Given the description of an element on the screen output the (x, y) to click on. 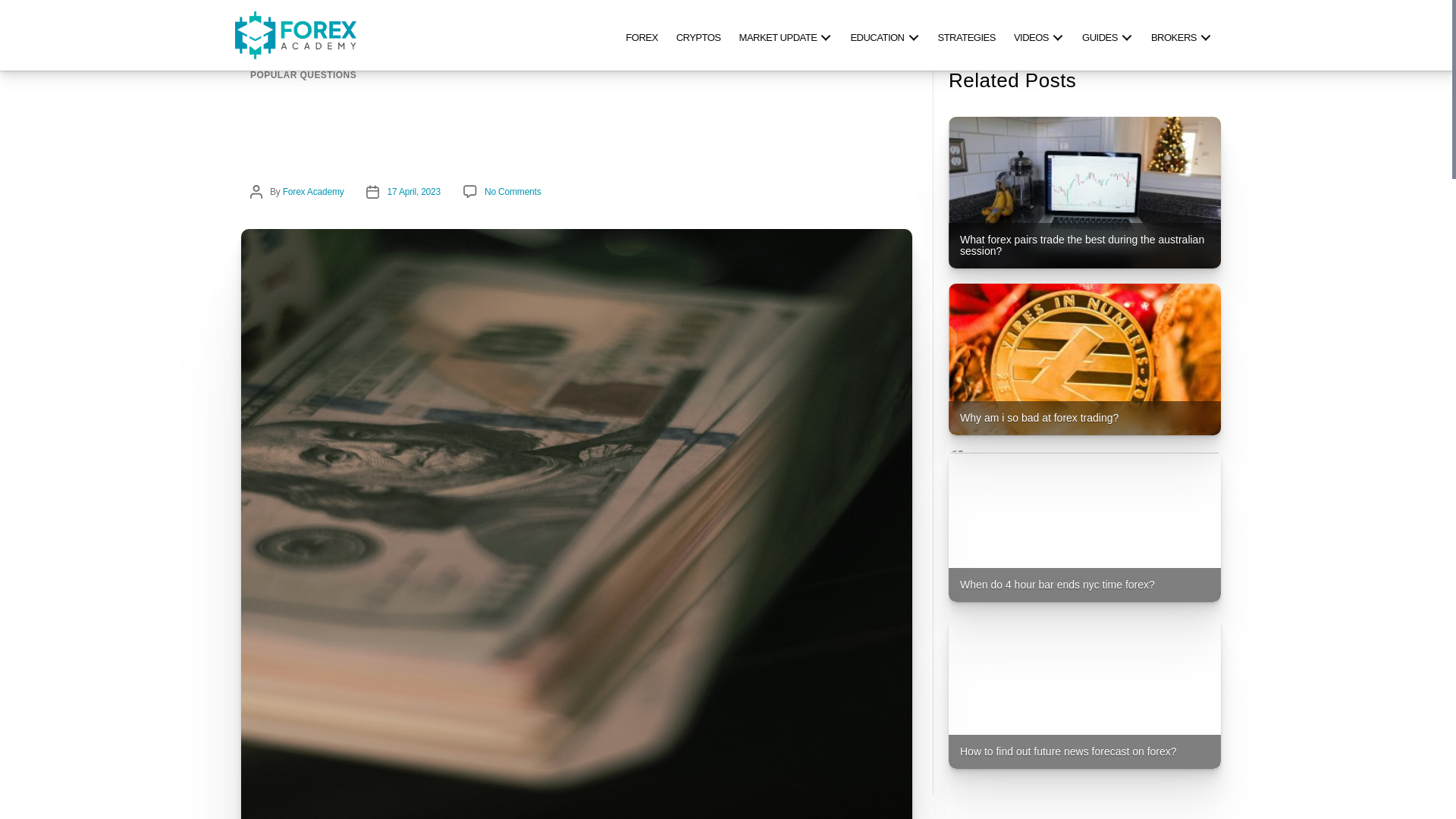
STRATEGIES (966, 35)
EDUCATION (884, 35)
Why am i so bad at forex trading? (1085, 358)
GUIDES (1107, 35)
BROKERS (1181, 35)
VIDEOS (1038, 35)
CRYPTOS (698, 35)
MARKET UPDATE (785, 35)
How to find out future news forecast on forex? (1085, 693)
